Given the description of an element on the screen output the (x, y) to click on. 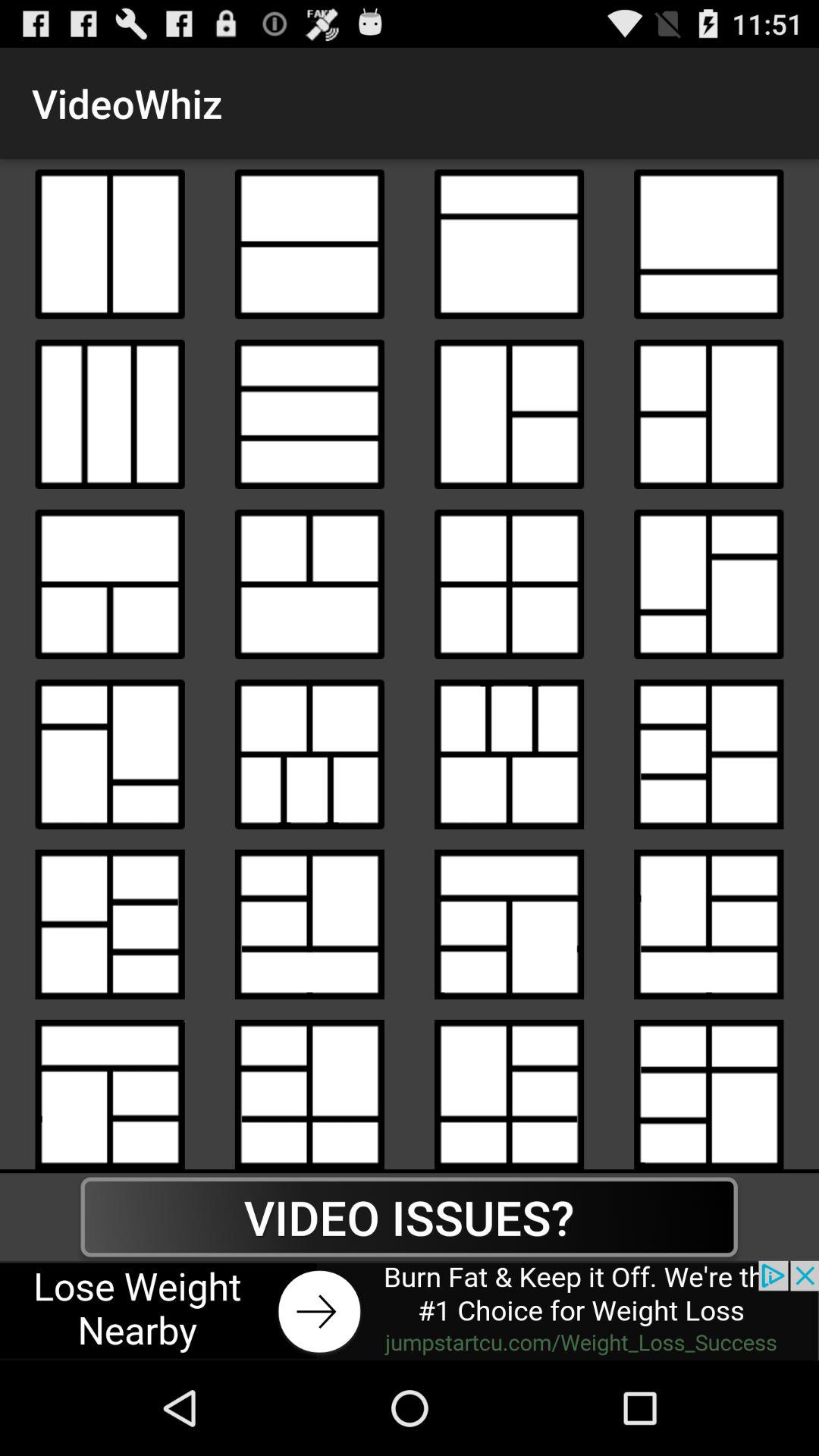
videowhiz icon (509, 1089)
